Given the description of an element on the screen output the (x, y) to click on. 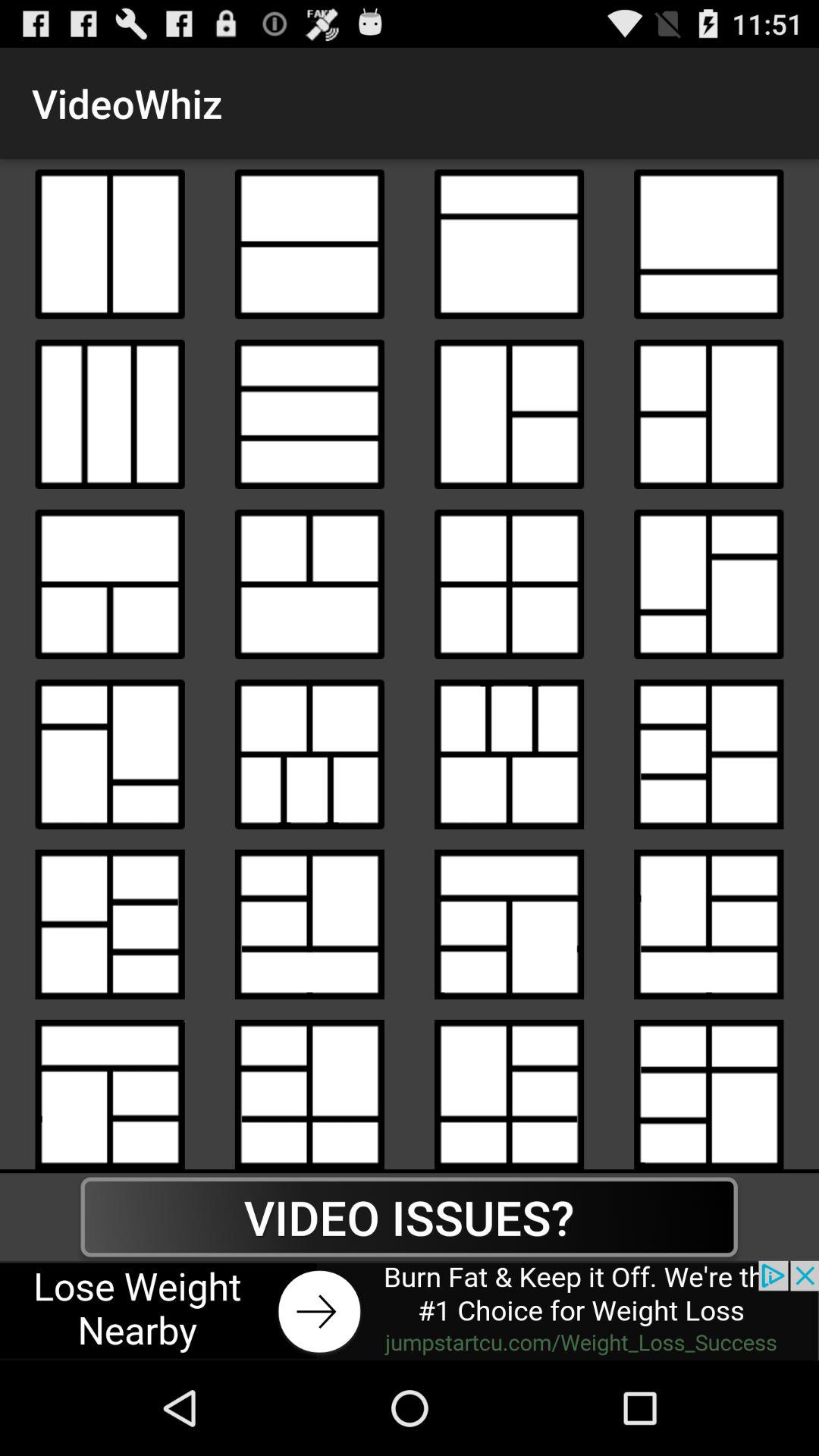
videowhiz icon (509, 1089)
